Given the description of an element on the screen output the (x, y) to click on. 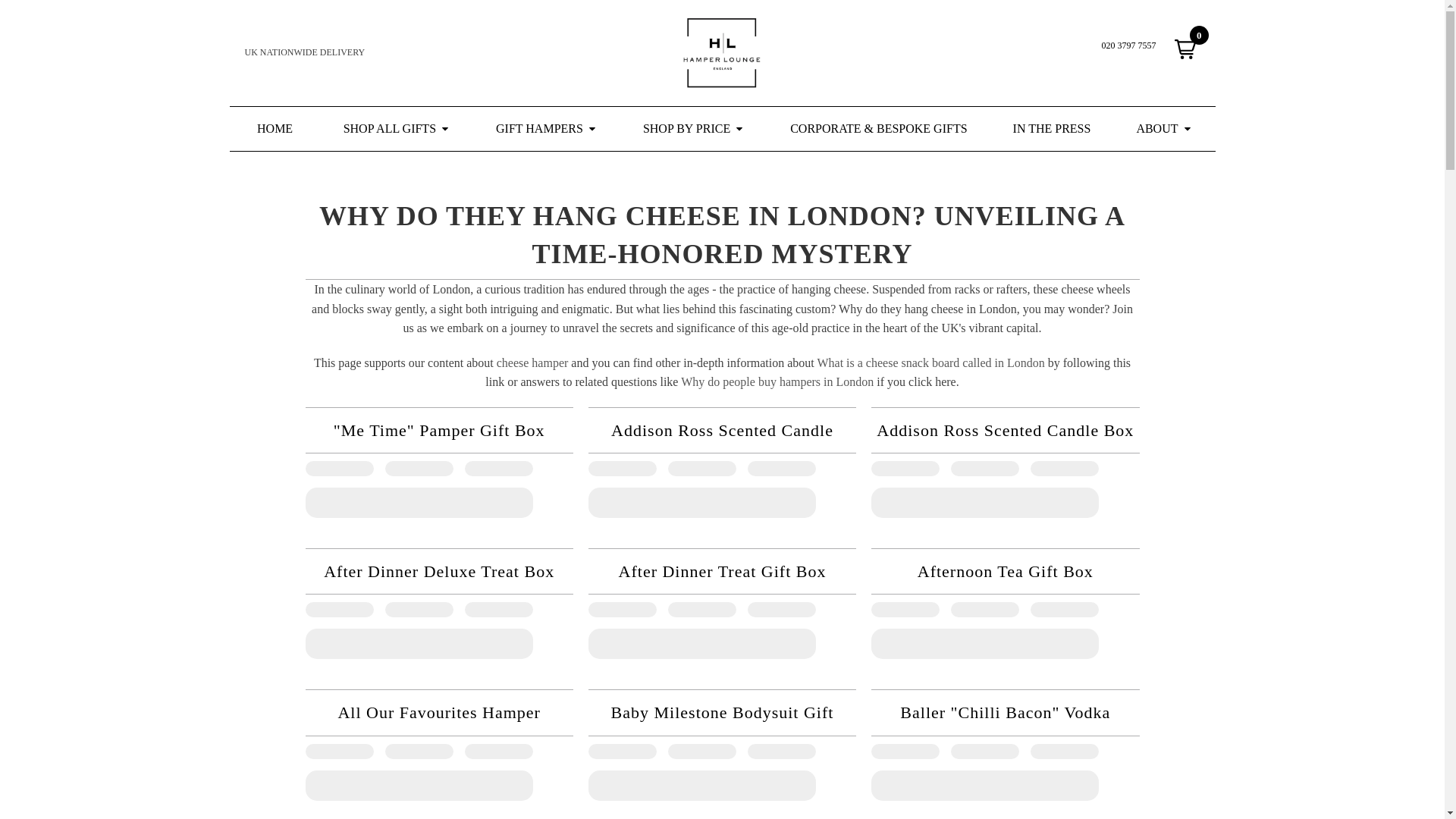
0 (1184, 49)
GIFT HAMPERS (546, 128)
SHOP BY PRICE (693, 128)
HOME (274, 128)
020 3797 7557 (1128, 45)
SHOP ALL GIFTS (396, 128)
